Given the description of an element on the screen output the (x, y) to click on. 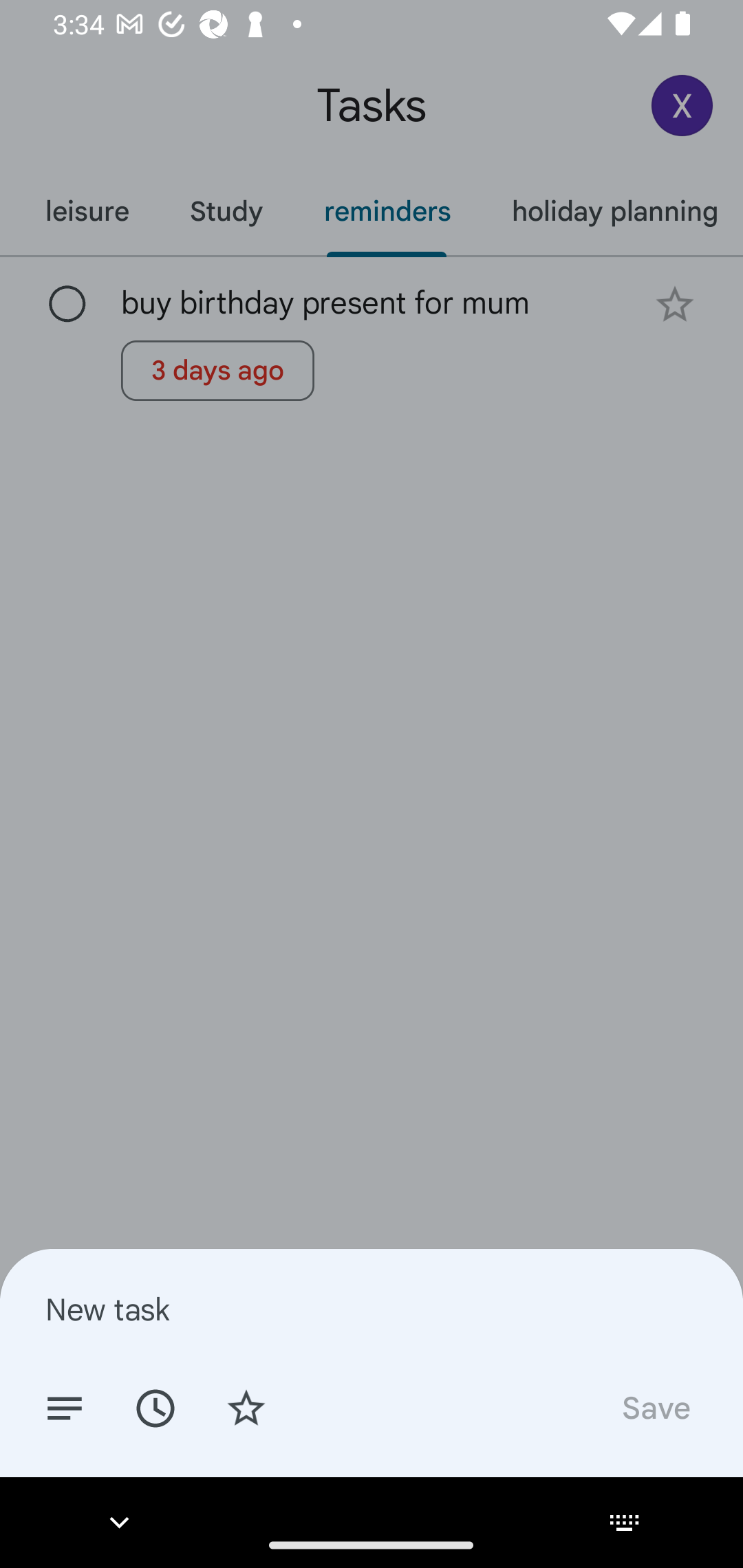
New task (371, 1308)
Save (655, 1407)
Add details (64, 1407)
Set date/time (154, 1407)
Add star (245, 1407)
